Given the description of an element on the screen output the (x, y) to click on. 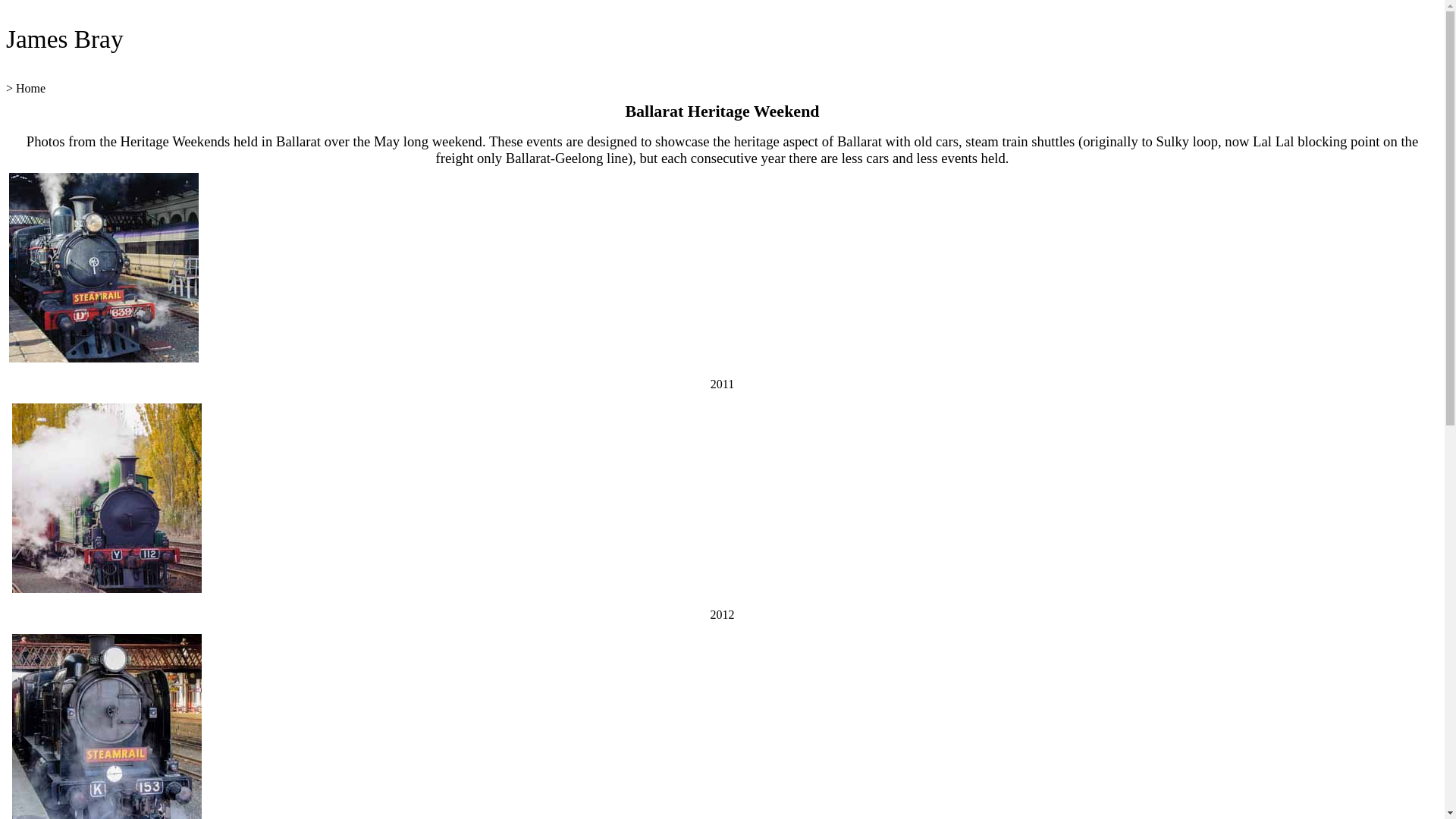
2011 Element type: text (722, 383)
2012 Element type: text (721, 614)
James Bray Element type: text (64, 39)
> Home Element type: text (25, 87)
